Given the description of an element on the screen output the (x, y) to click on. 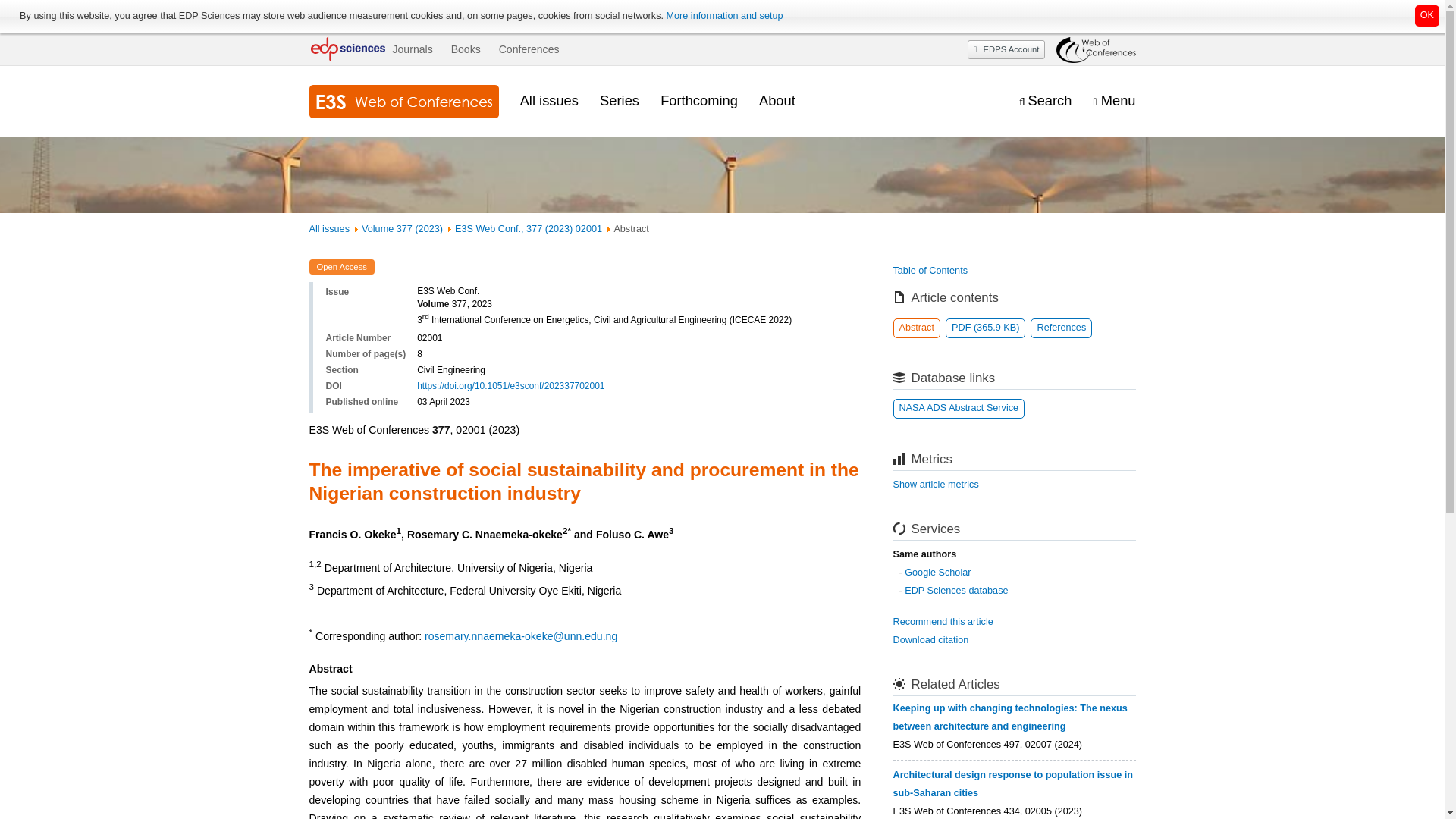
OK (1427, 15)
Books (465, 49)
More information and setup (724, 15)
Journal homepage (403, 101)
Abstract (916, 328)
Display the search engine (1045, 101)
Conferences (529, 49)
Journals (411, 49)
Click to close this notification (1427, 15)
